Given the description of an element on the screen output the (x, y) to click on. 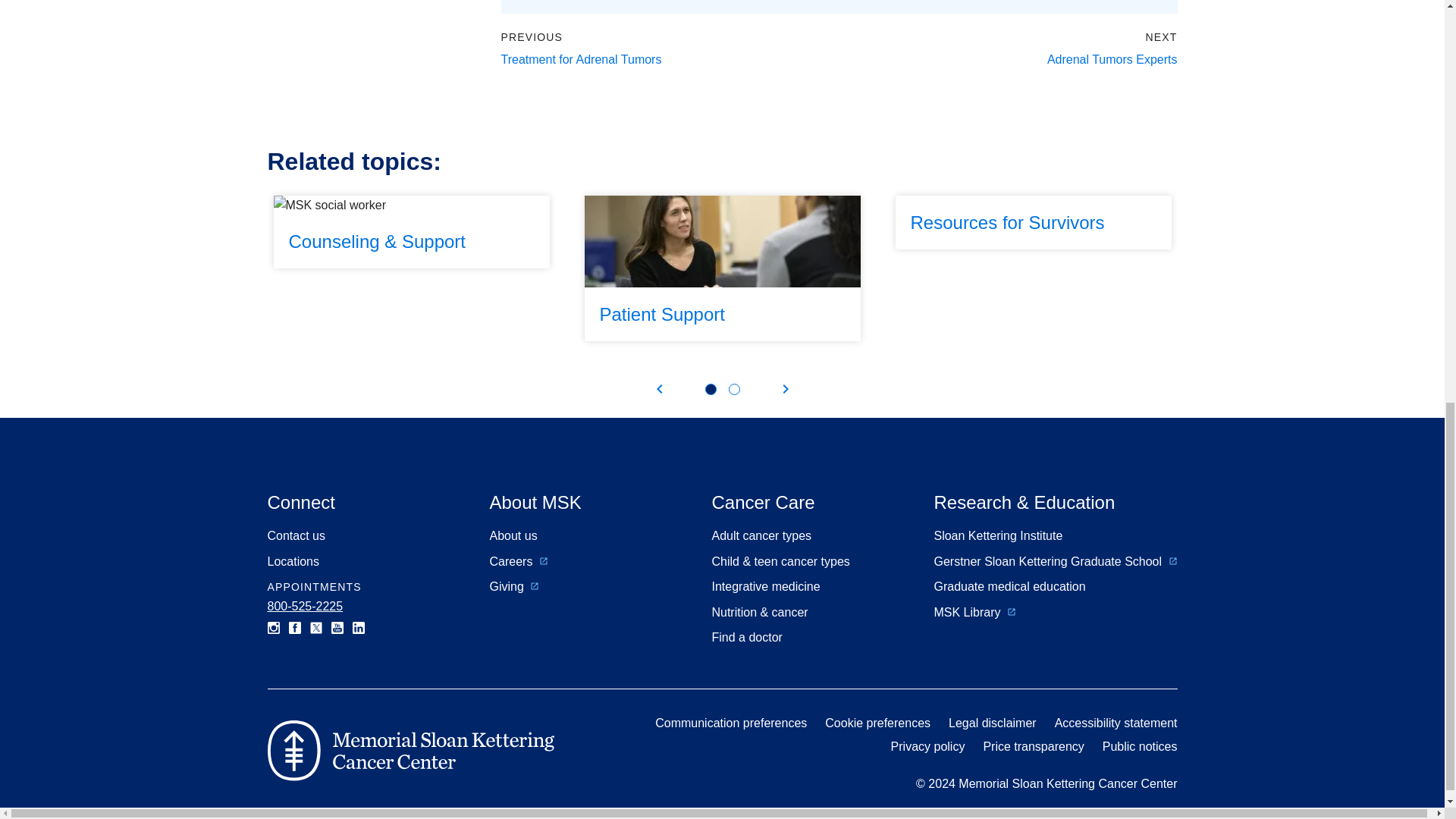
Memorial Sloan Kettering Cancer Center (409, 750)
